Given the description of an element on the screen output the (x, y) to click on. 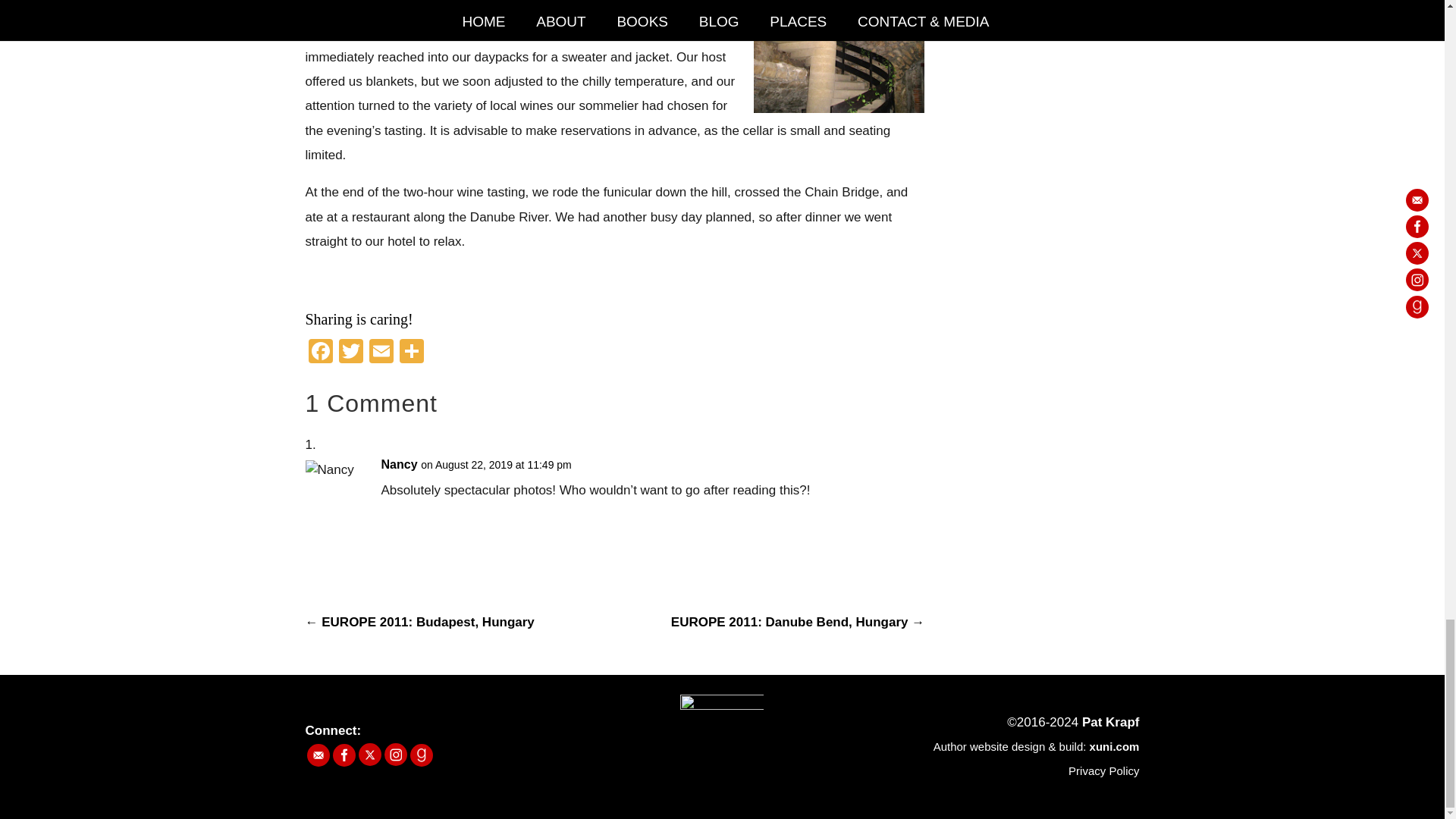
Facebook (319, 352)
Twitter (349, 352)
Email (380, 352)
Facebook (319, 352)
Email (380, 352)
Twitter (349, 352)
Share (411, 352)
